Given the description of an element on the screen output the (x, y) to click on. 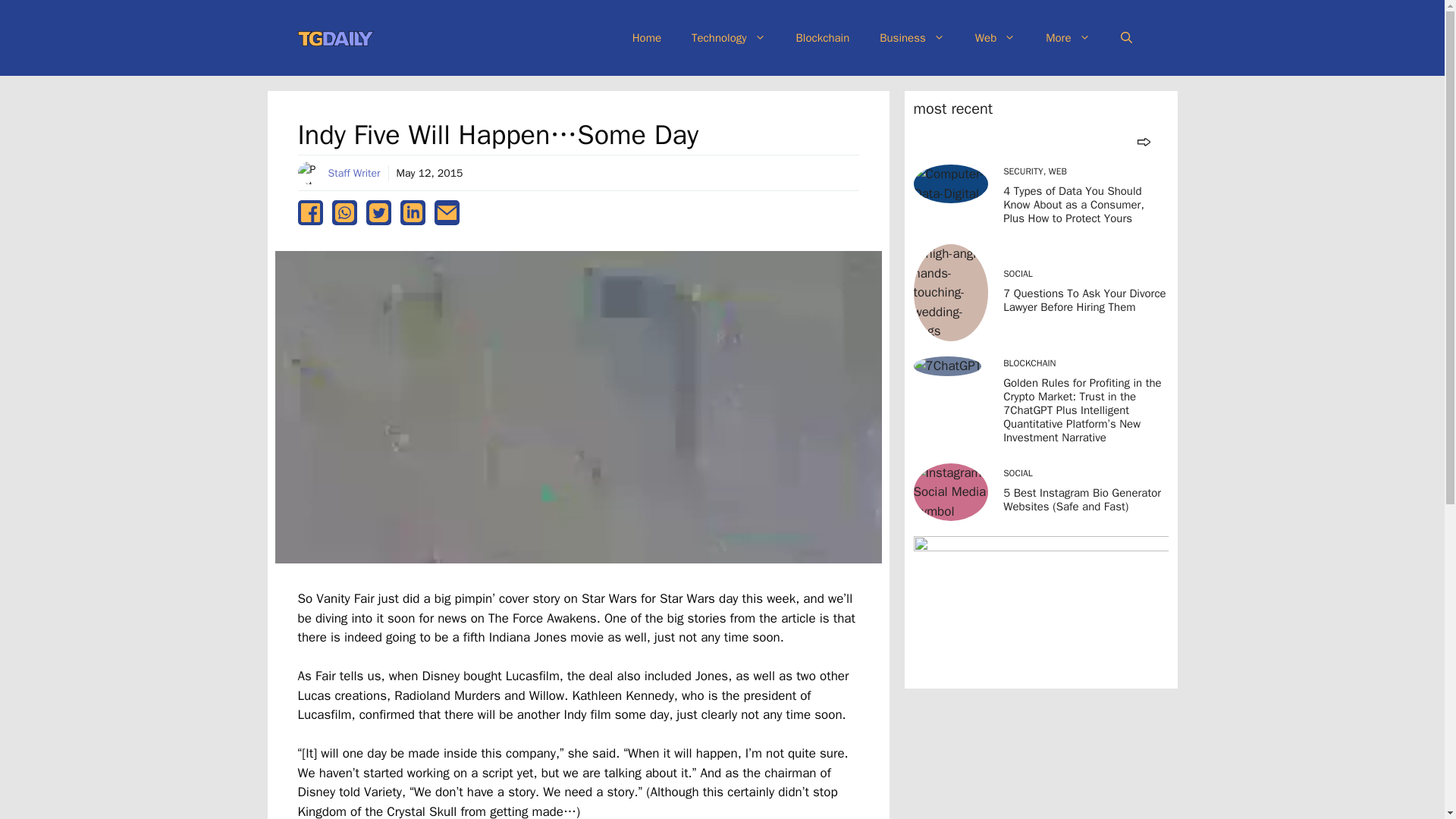
Home (647, 37)
Web (994, 37)
Business (911, 37)
More (1067, 37)
Blockchain (822, 37)
Technology (728, 37)
purple-600x400-1 (1039, 607)
